Given the description of an element on the screen output the (x, y) to click on. 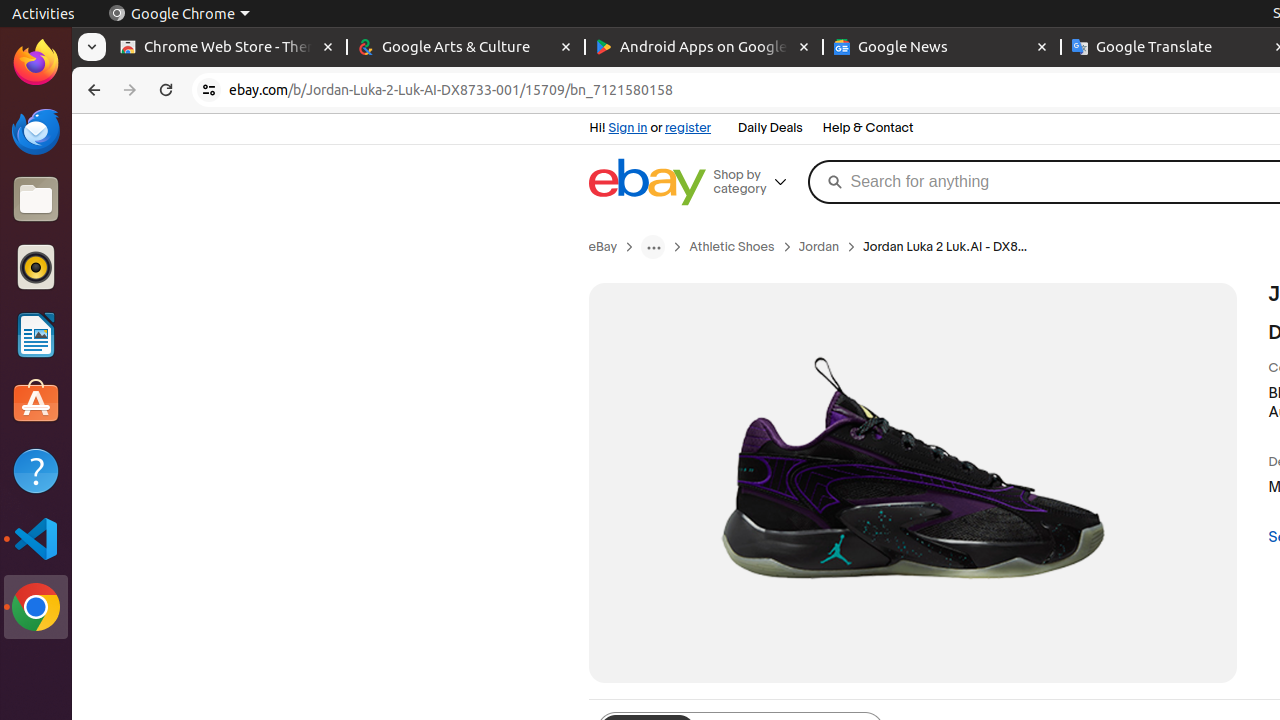
eBay Element type: link (603, 247)
Thunderbird Mail Element type: push-button (36, 131)
Google News - Memory usage - 49.7 MB Element type: page-tab (942, 47)
Daily Deals Element type: link (770, 129)
eBay Home Element type: link (647, 182)
